Given the description of an element on the screen output the (x, y) to click on. 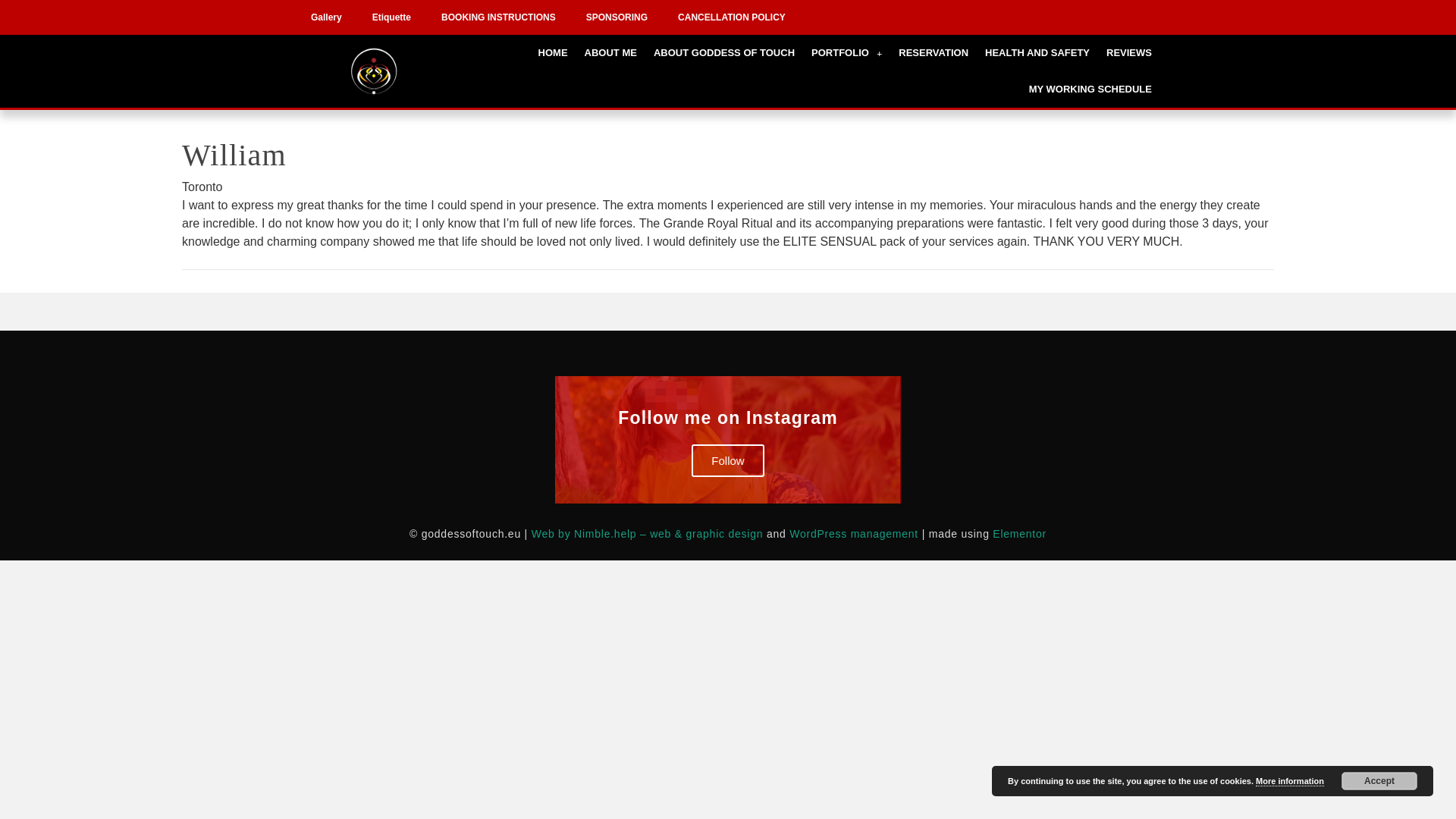
PORTFOLIO (846, 53)
BOOKING INSTRUCTIONS (498, 17)
ABOUT GODDESS OF TOUCH (724, 53)
Gallery (325, 17)
ABOUT ME (610, 53)
WordPress management (853, 533)
SPONSORING (616, 17)
RESERVATION (932, 53)
HEALTH AND SAFETY (1036, 53)
HOME (552, 53)
Elementor (1019, 533)
Follow (726, 460)
CANCELLATION POLICY (731, 17)
Etiquette (391, 17)
MY WORKING SCHEDULE (1090, 89)
